Given the description of an element on the screen output the (x, y) to click on. 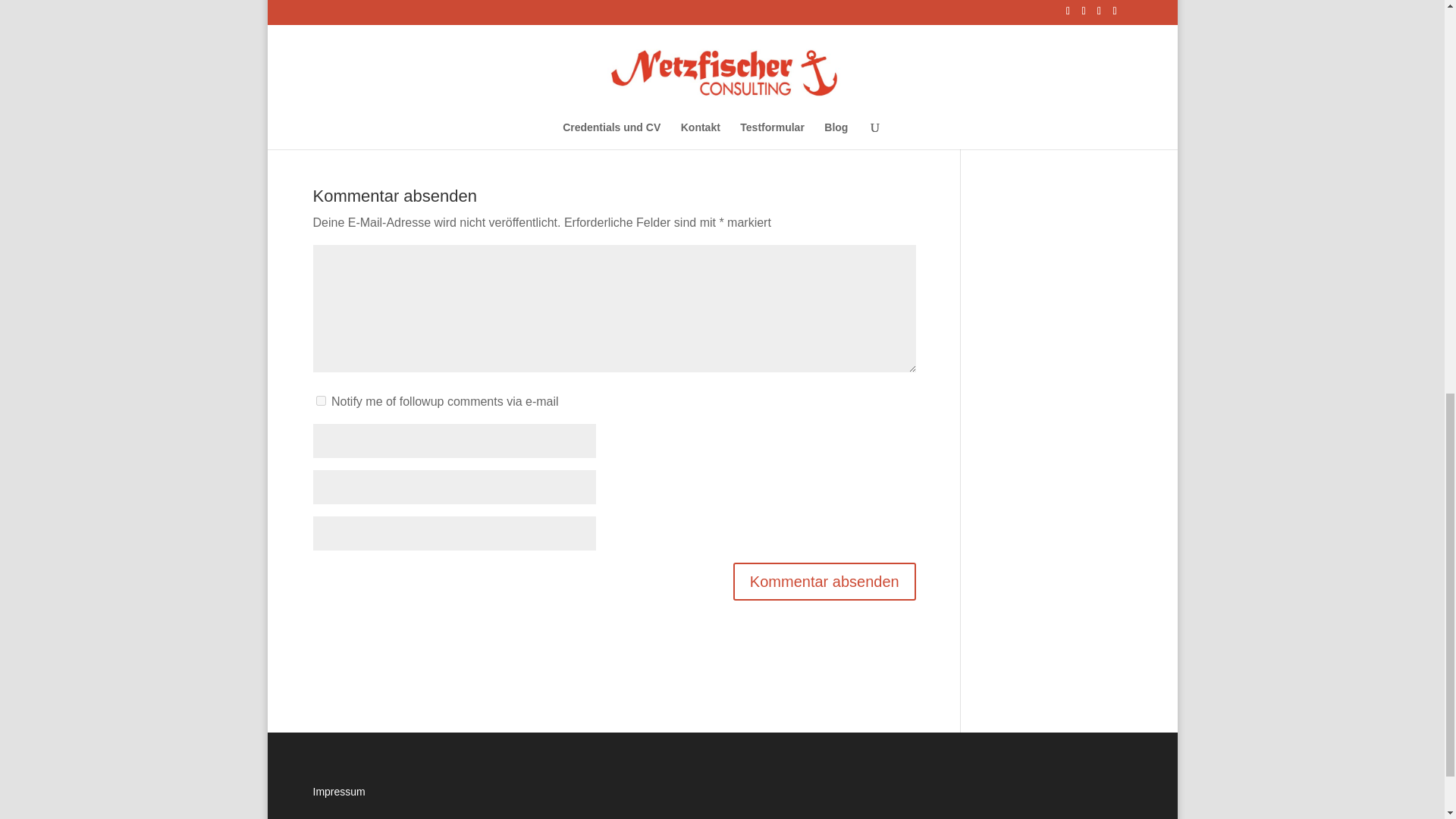
Kommentar absenden (824, 581)
Kommentar absenden (824, 581)
subscribe (319, 400)
